Given the description of an element on the screen output the (x, y) to click on. 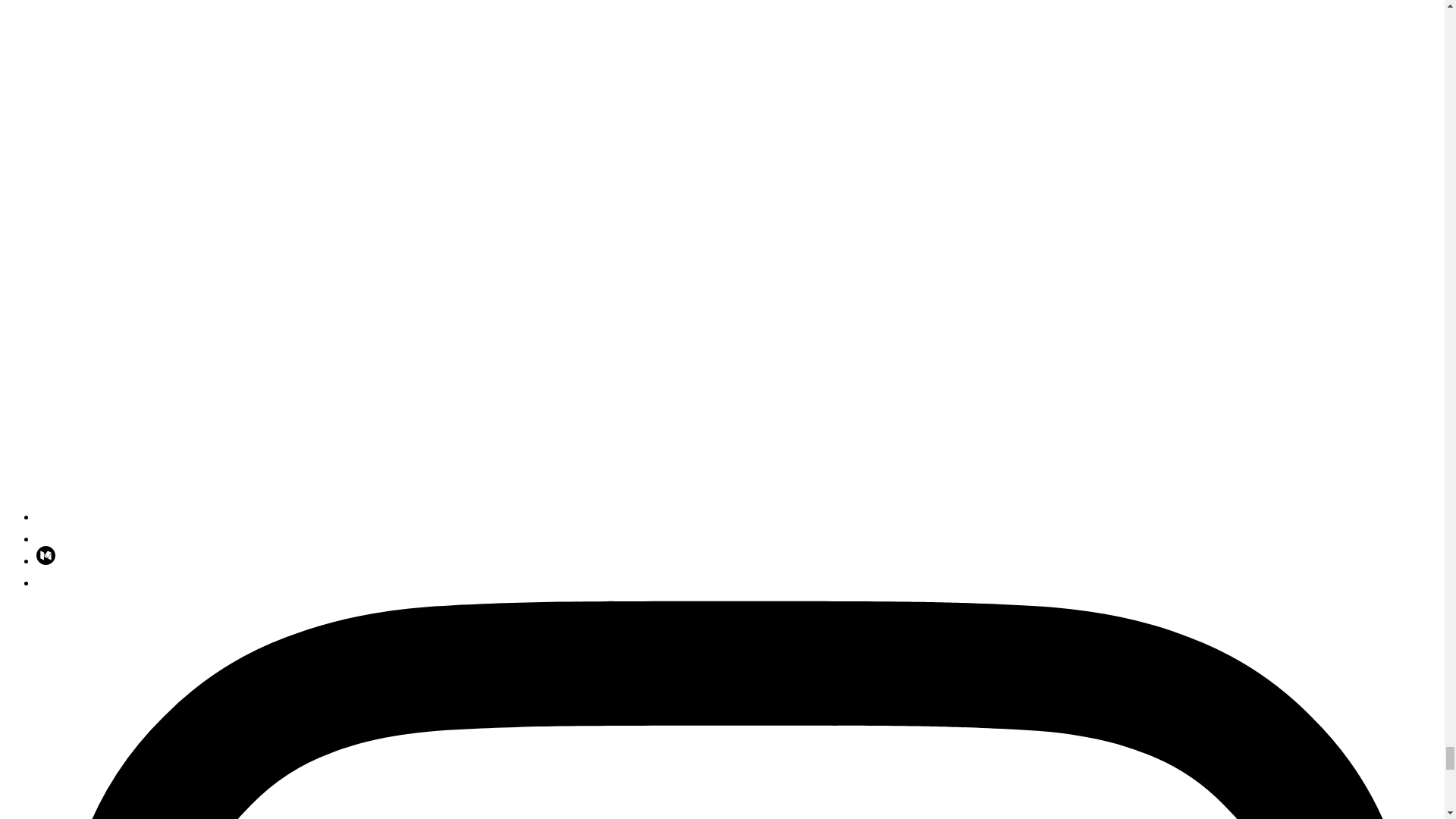
facebook (45, 582)
youtube (45, 538)
medium (45, 560)
X (491, 516)
